Given the description of an element on the screen output the (x, y) to click on. 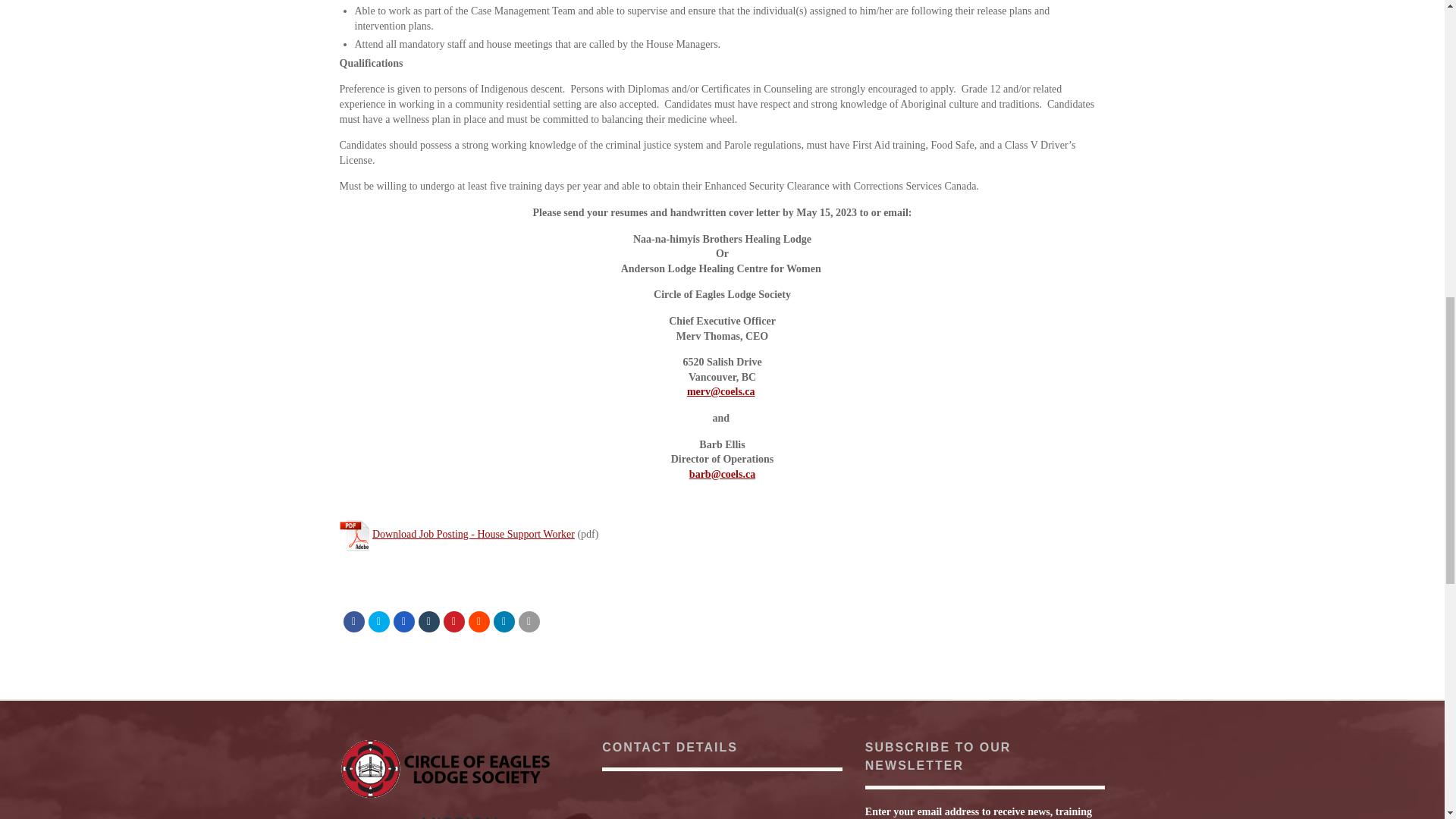
Submit to Reddit (478, 621)
Tweet (379, 621)
Share on Linkedin (503, 621)
Email (529, 621)
Pin it (453, 621)
Post to Tumblr (429, 621)
Download Job Posting - House Support Worker (473, 533)
Share on Facebook (353, 621)
